Given the description of an element on the screen output the (x, y) to click on. 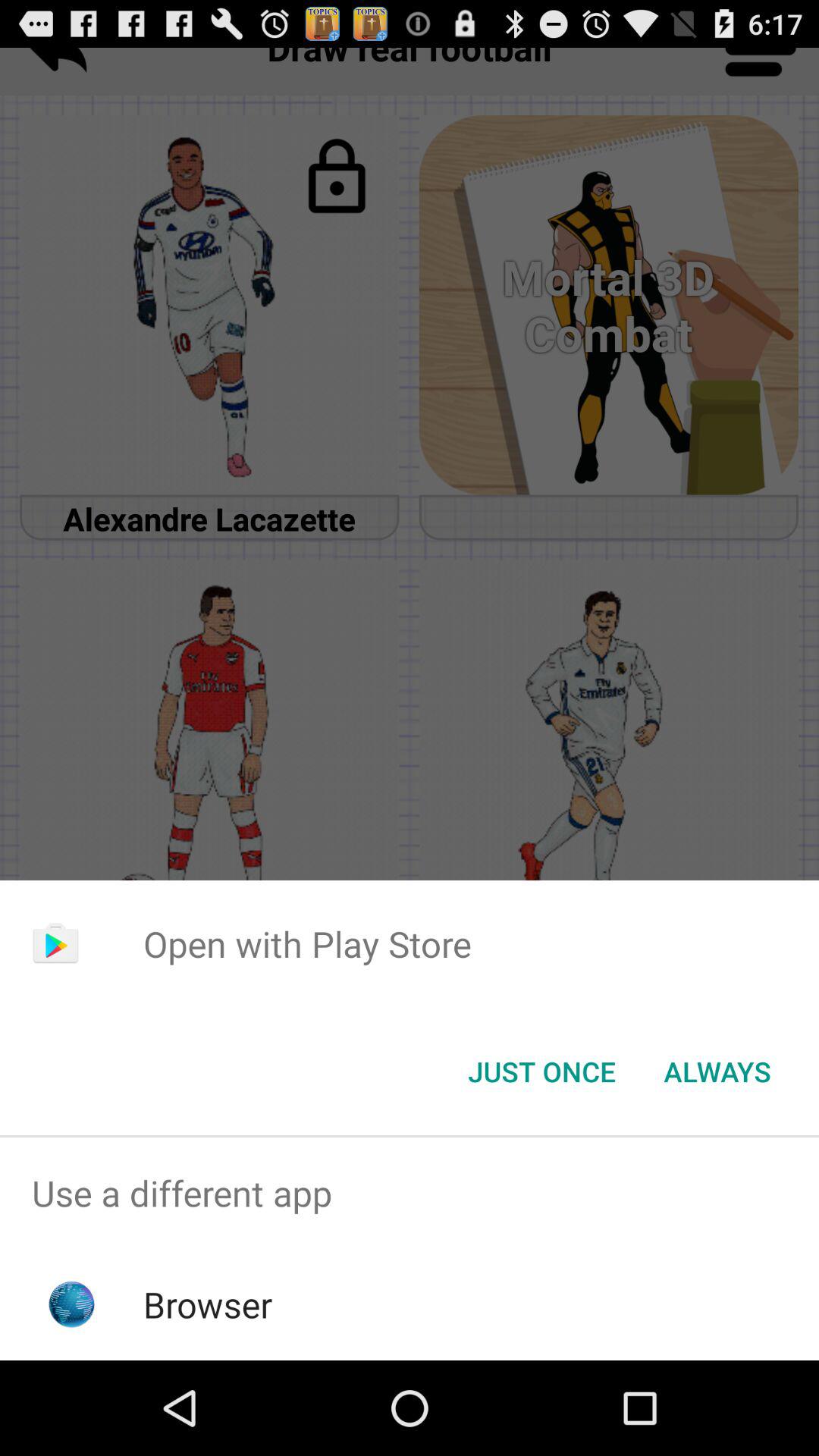
launch button at the bottom right corner (717, 1071)
